Given the description of an element on the screen output the (x, y) to click on. 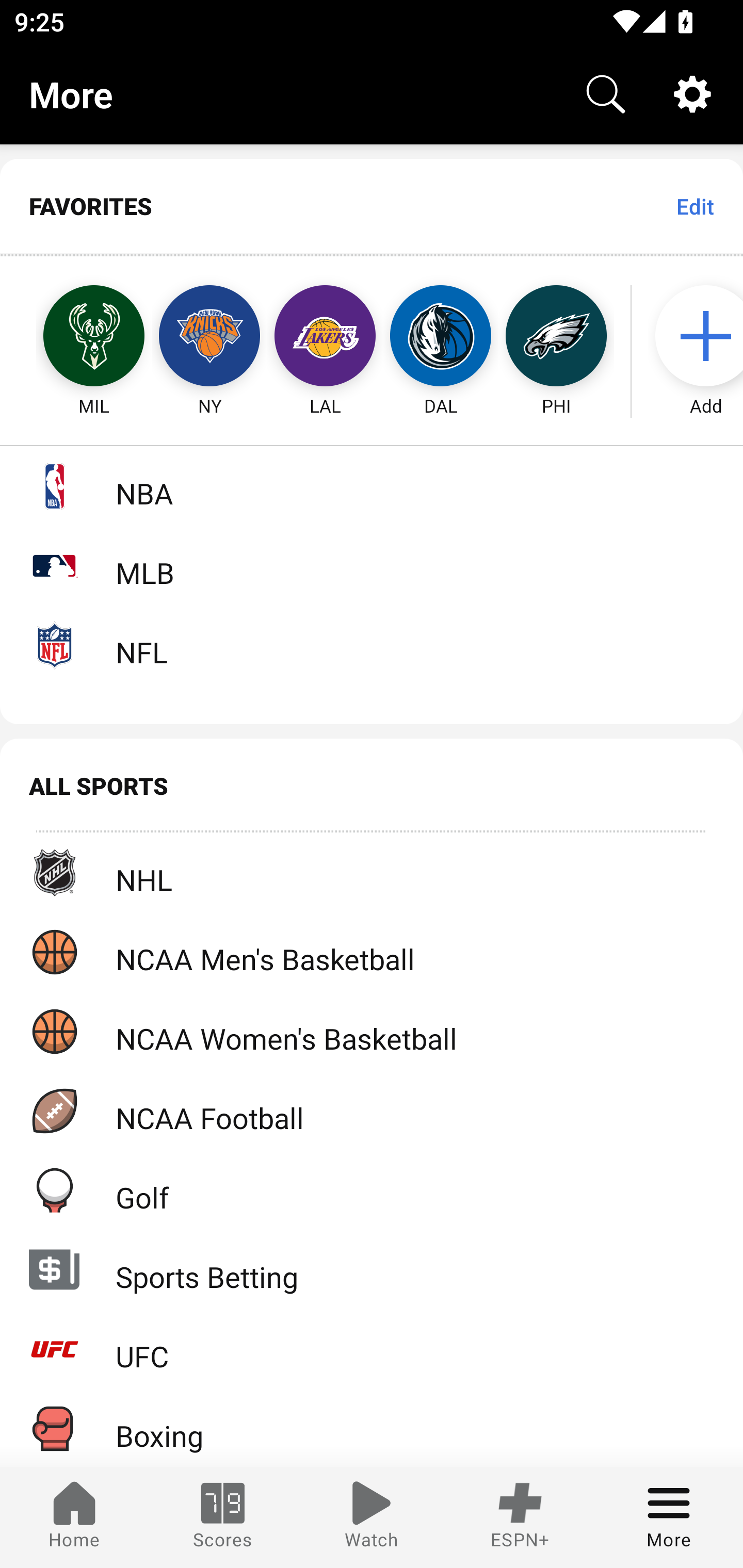
Search (605, 93)
Settings (692, 93)
Edit (695, 205)
MIL Milwaukee Bucks (75, 336)
NY New York Knicks (209, 336)
LAL Los Angeles Lakers (324, 336)
DAL Dallas Mavericks (440, 336)
PHI Philadelphia Eagles (555, 336)
 Add (695, 336)
NBA (371, 485)
MLB (371, 565)
NFL (371, 645)
NHL (371, 872)
NCAA Men's Basketball (371, 951)
NCAA Women's Basketball (371, 1030)
NCAA Football (371, 1110)
Golf (371, 1189)
Sports Betting (371, 1269)
UFC (371, 1349)
Boxing (371, 1428)
Home (74, 1517)
Scores (222, 1517)
Watch (371, 1517)
ESPN+ (519, 1517)
